Given the description of an element on the screen output the (x, y) to click on. 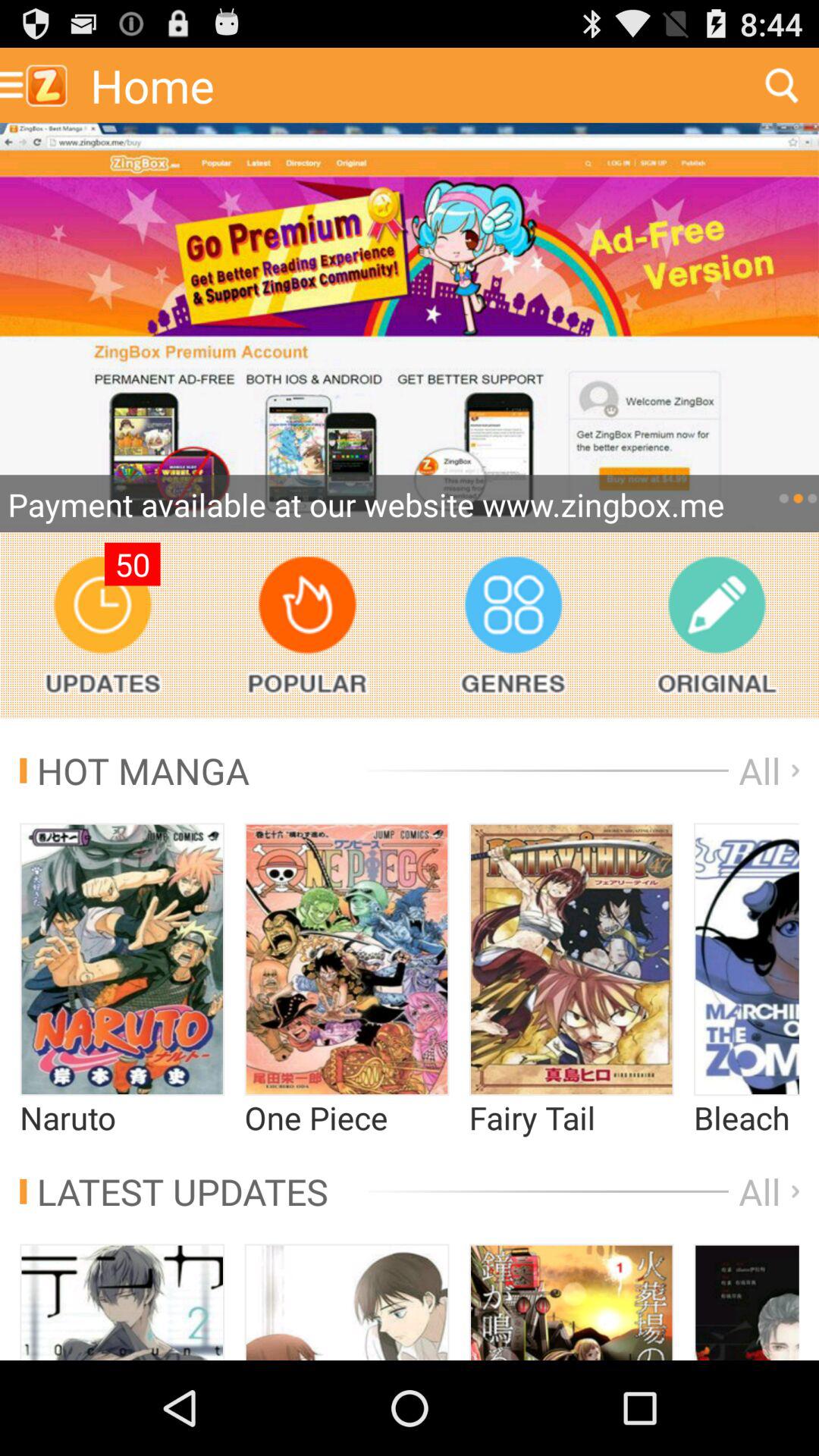
go to popular (306, 625)
